Given the description of an element on the screen output the (x, y) to click on. 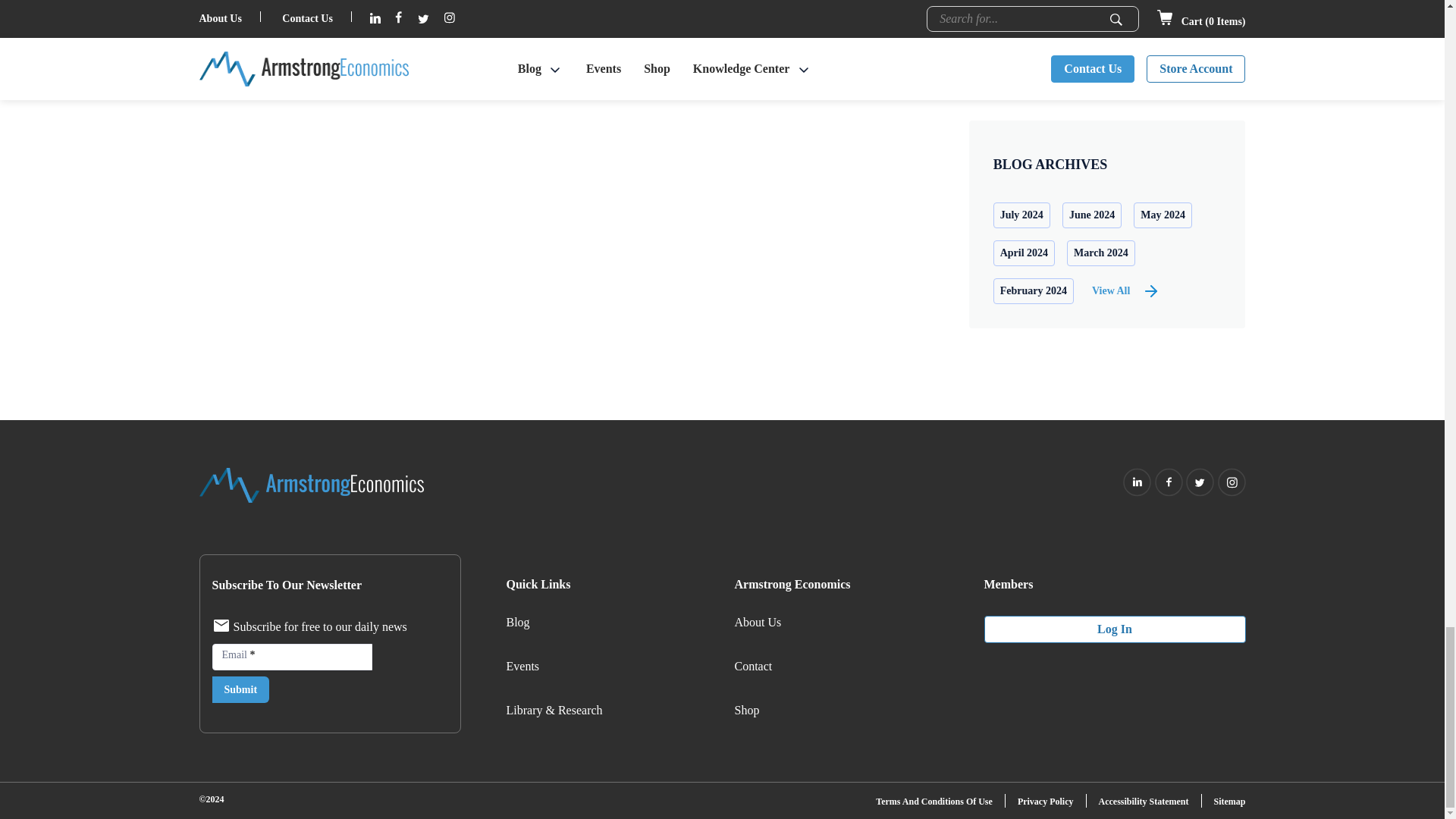
Submit (240, 689)
